Given the description of an element on the screen output the (x, y) to click on. 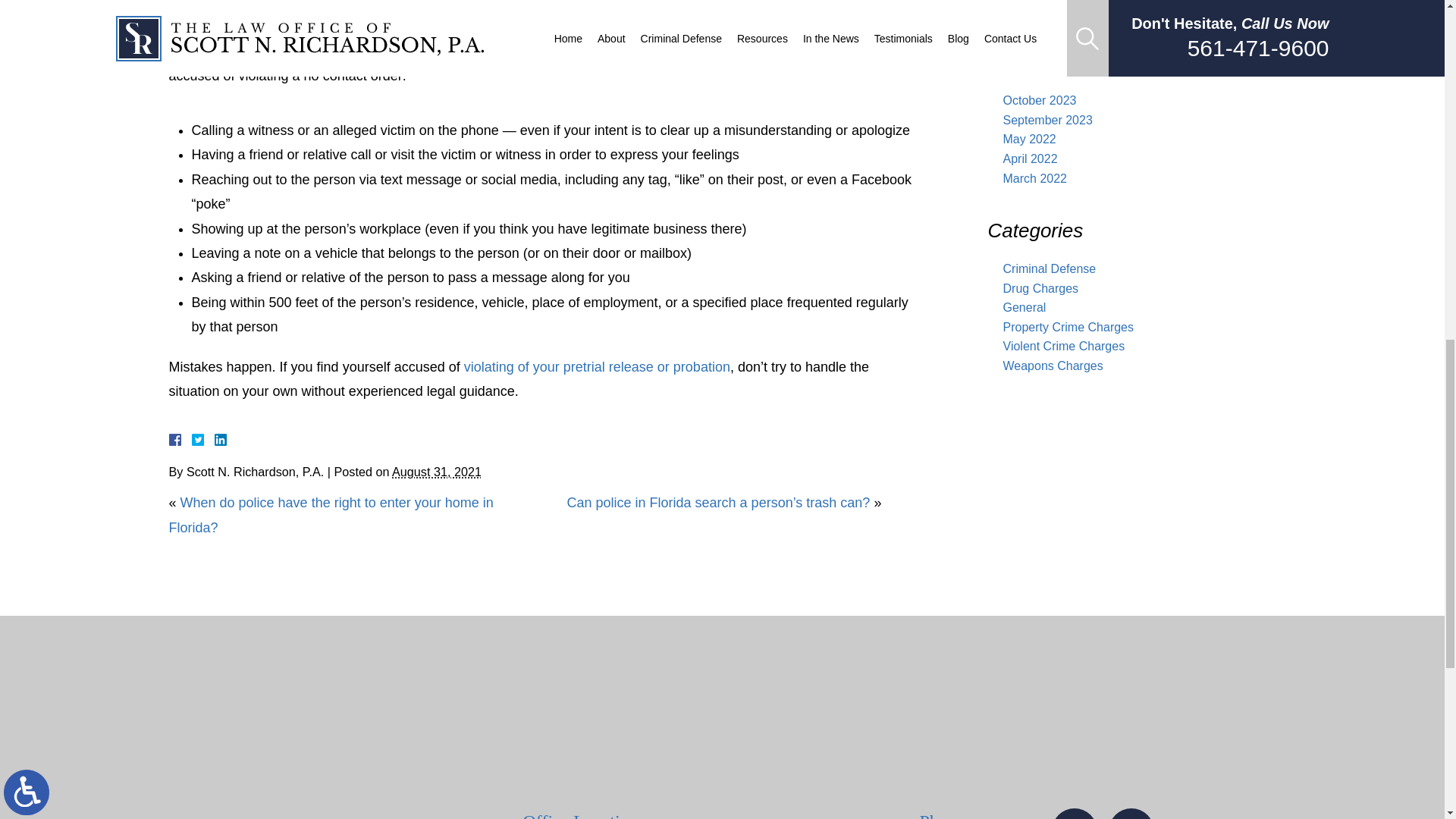
LinkedIn (213, 439)
Facebook (192, 439)
2021-08-31T13:19:00-0700 (436, 471)
Twitter (203, 439)
